Given the description of an element on the screen output the (x, y) to click on. 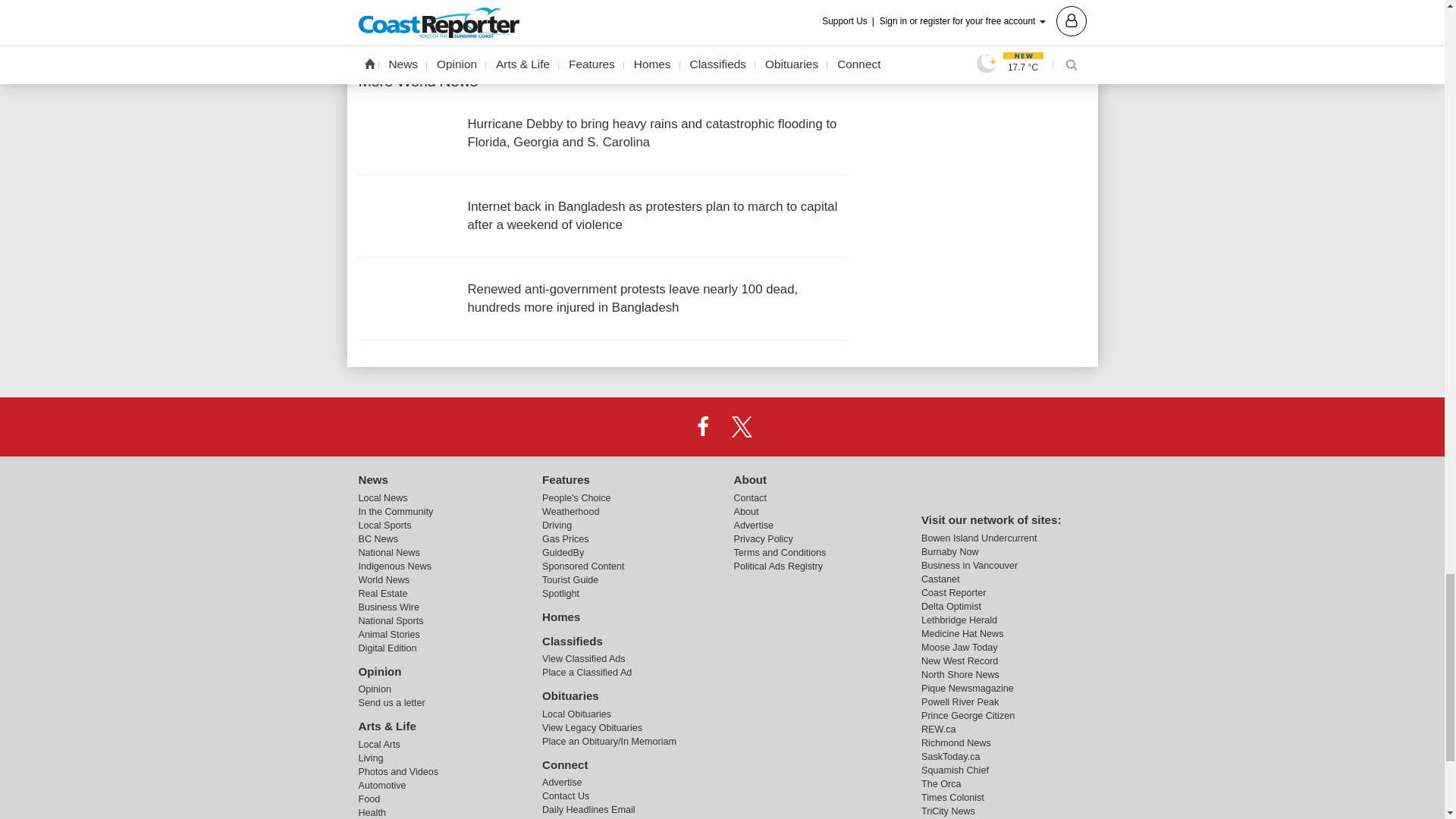
Facebook (702, 426)
X (741, 426)
